Given the description of an element on the screen output the (x, y) to click on. 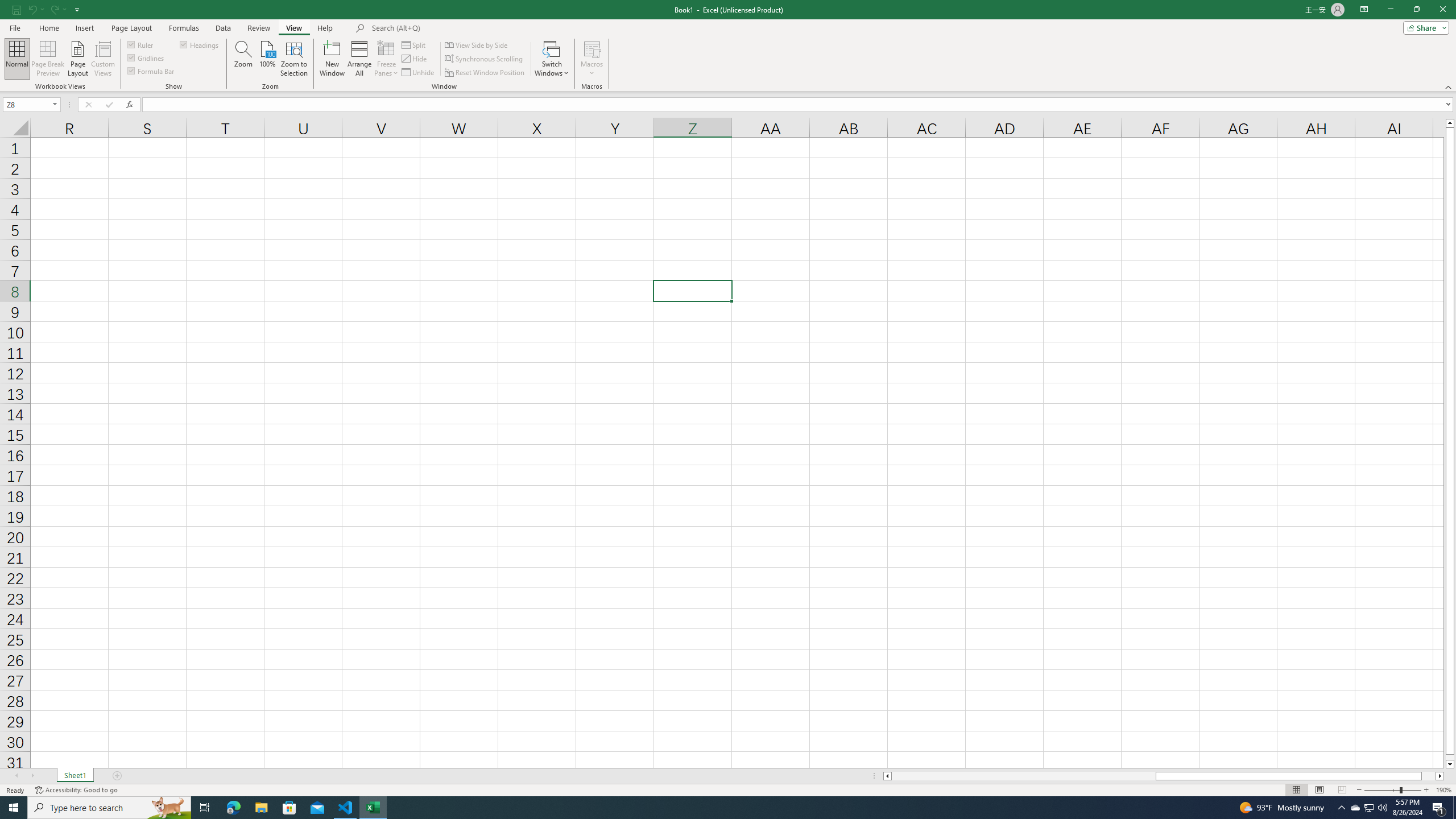
Zoom to Selection (293, 58)
Reset Window Position (485, 72)
Arrange All (359, 58)
New Window (332, 58)
